Given the description of an element on the screen output the (x, y) to click on. 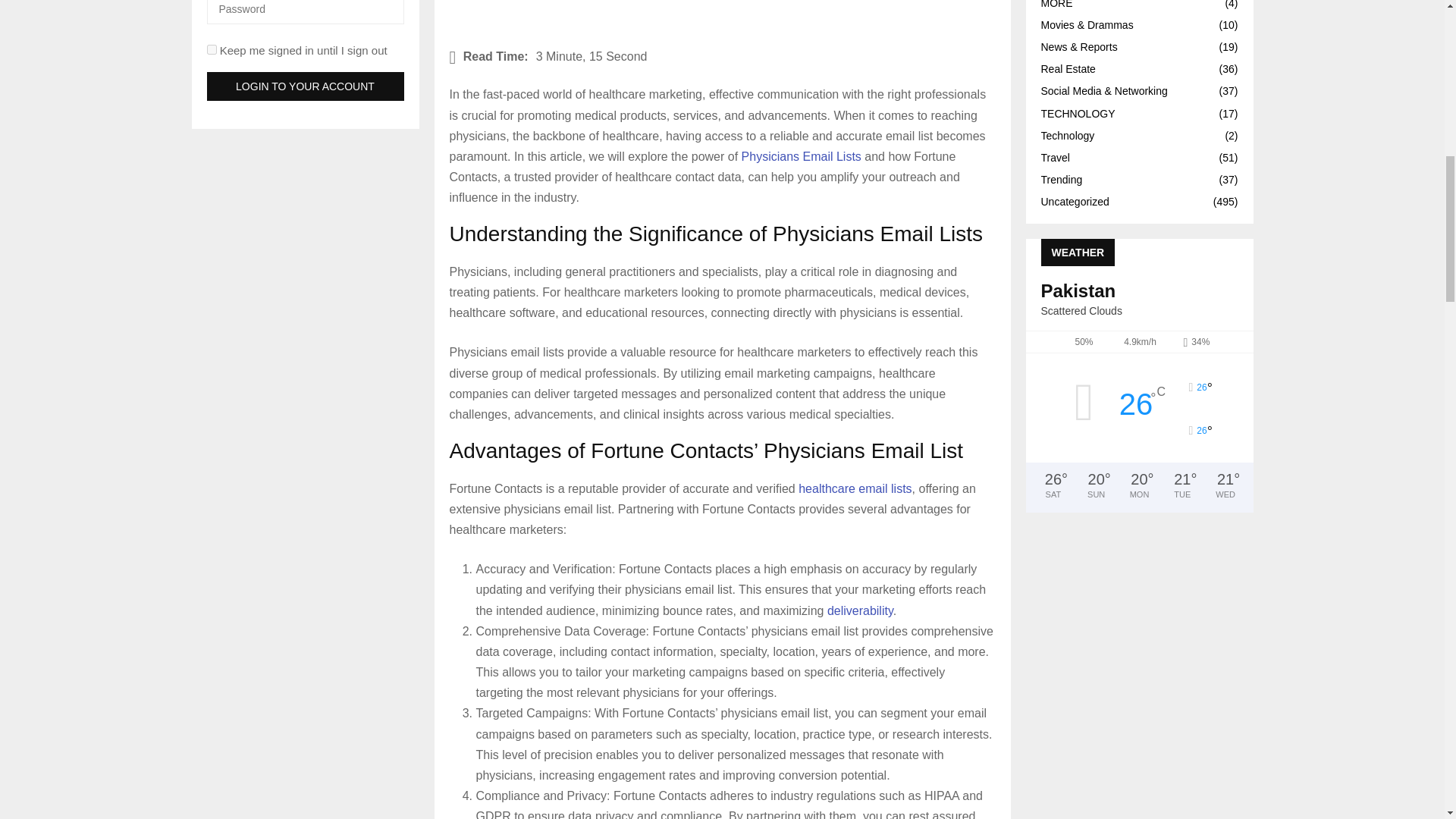
forever (210, 49)
Login to your account (304, 86)
Advertisement (721, 17)
